Given the description of an element on the screen output the (x, y) to click on. 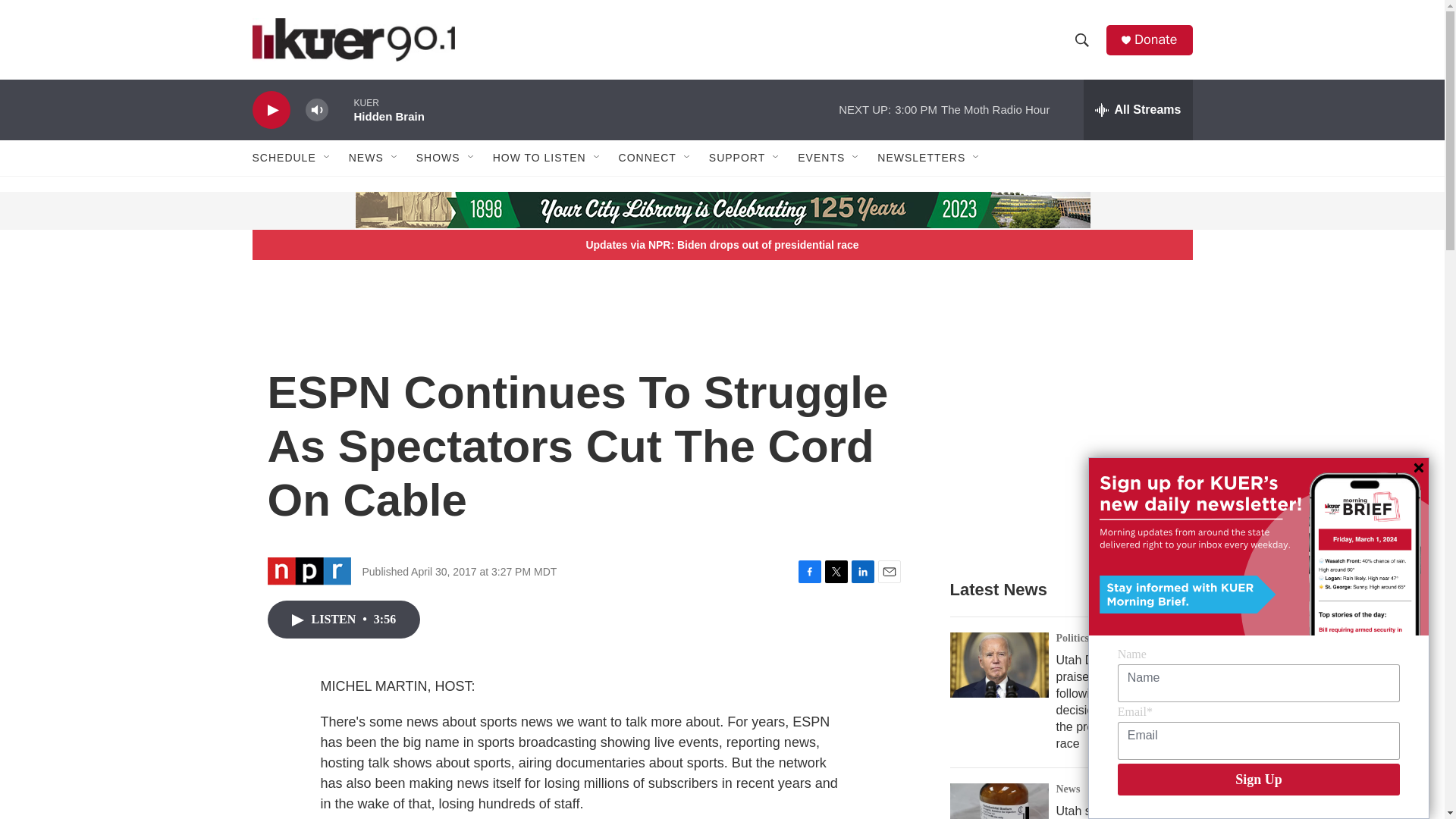
3rd party ad content (1062, 434)
Sign Up (1259, 779)
Close (1418, 468)
3rd party ad content (367, 210)
